Given the description of an element on the screen output the (x, y) to click on. 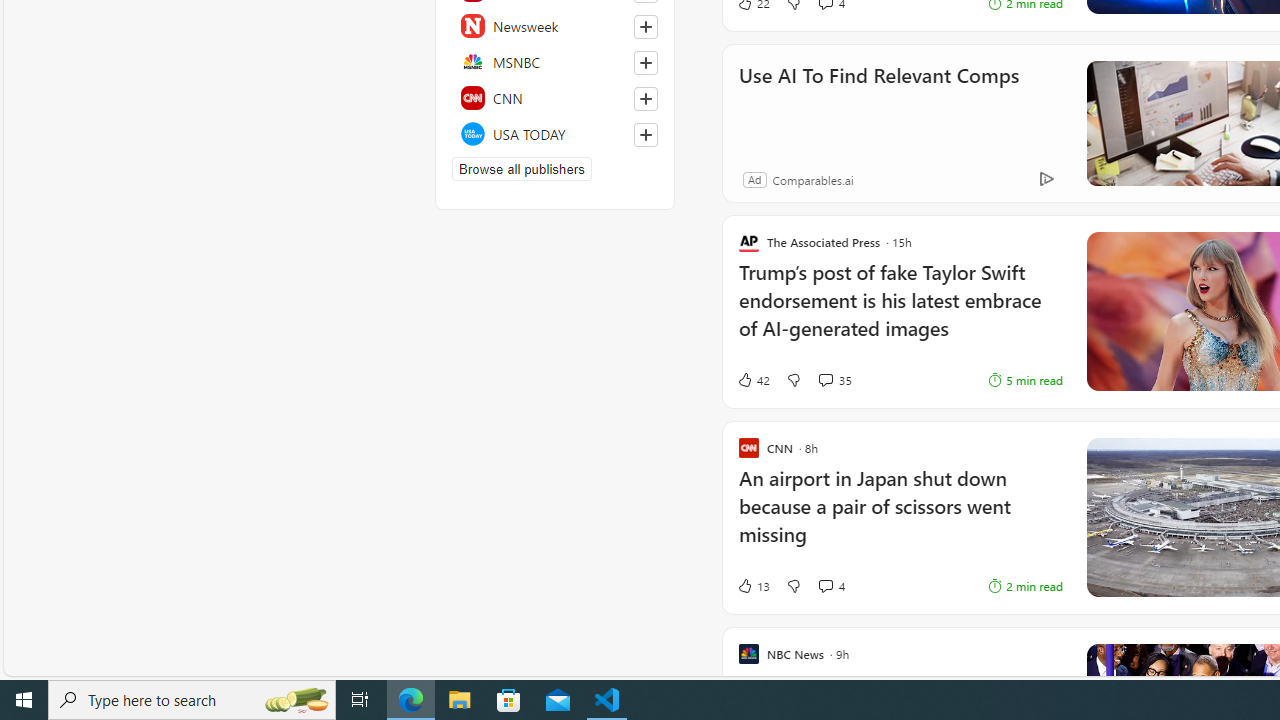
Dislike (793, 585)
Ad Choice (1046, 179)
CNN (555, 97)
Newsweek (555, 25)
Browse all publishers (521, 168)
Follow this source (645, 134)
View comments 4 Comment (825, 586)
13 Like (753, 585)
Use AI To Find Relevant Comps (878, 102)
View comments 35 Comment (834, 379)
View comments 4 Comment (830, 585)
Comparables.ai (812, 179)
MSNBC (555, 61)
